Given the description of an element on the screen output the (x, y) to click on. 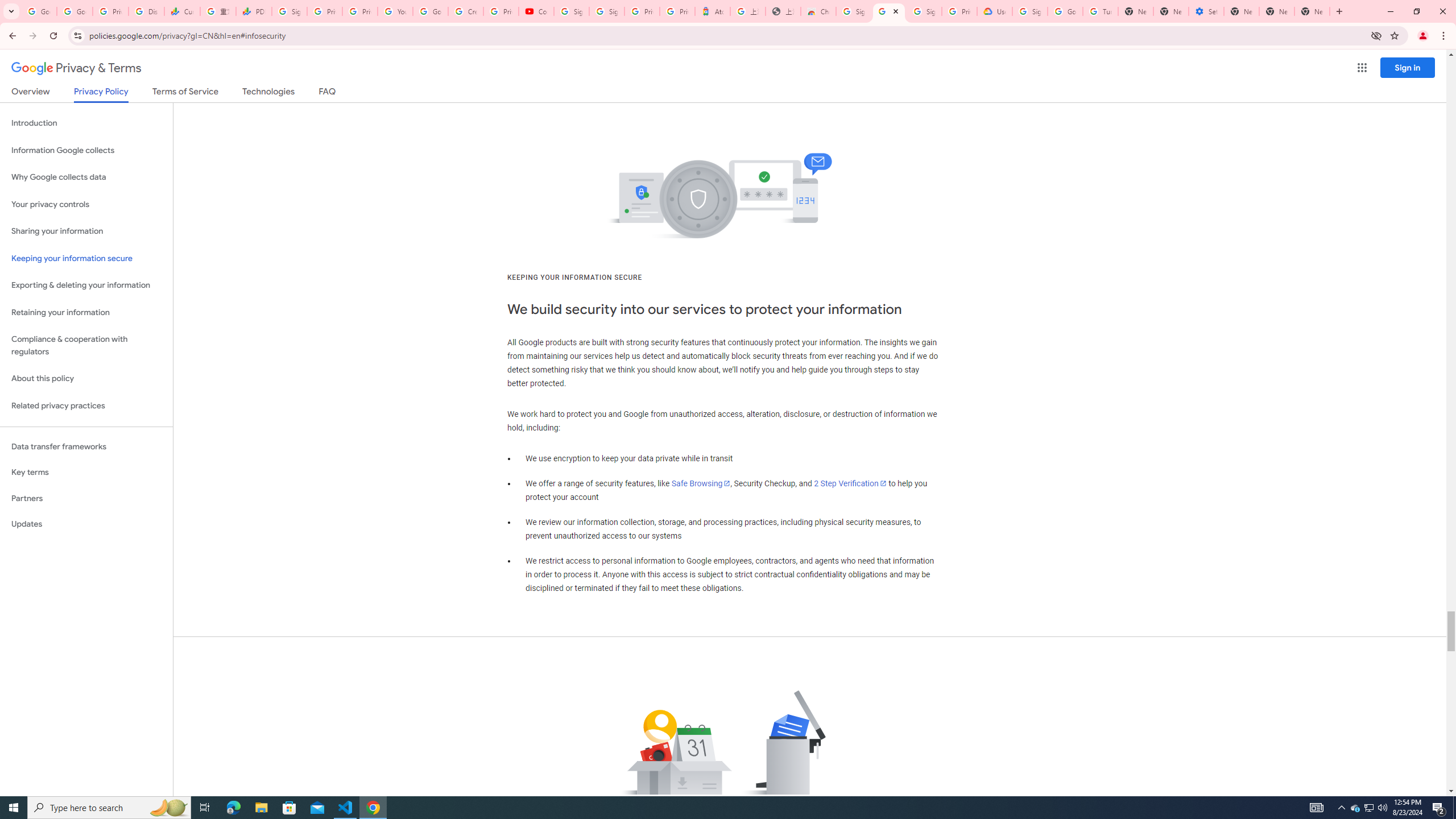
Related privacy practices (86, 405)
Retaining your information (86, 312)
Why Google collects data (86, 176)
Settings - System (1205, 11)
PDD Holdings Inc - ADR (PDD) Price & News - Google Finance (253, 11)
